Given the description of an element on the screen output the (x, y) to click on. 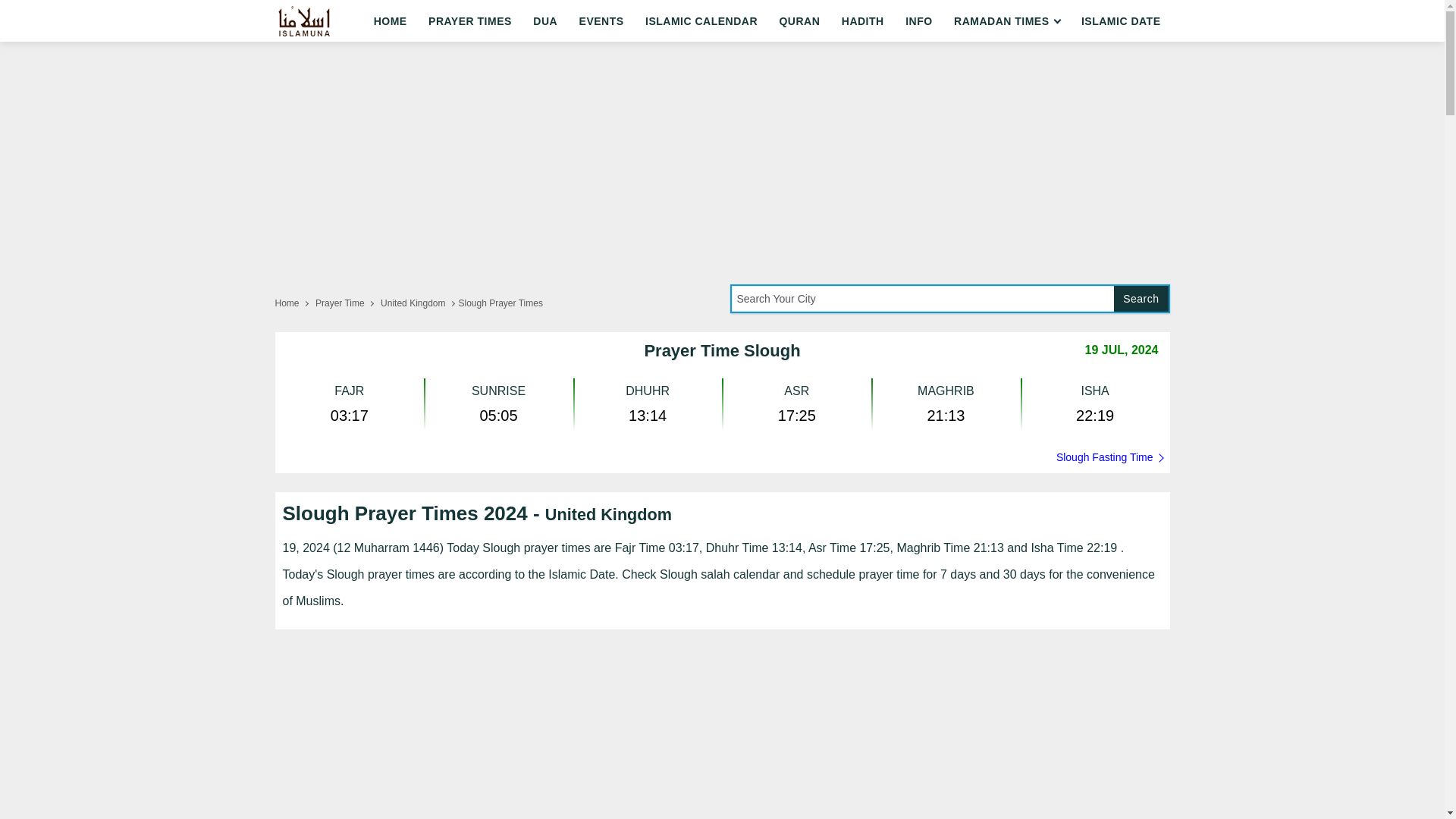
EVENTS (601, 21)
Home (293, 303)
Slough Fasting Time (721, 457)
QURAN (799, 21)
Prayer Time (346, 303)
Search (1140, 298)
Islamuna (302, 20)
PRAYER TIMES (470, 21)
United Kingdom (419, 303)
DUA (545, 21)
RAMADAN TIMES (1006, 21)
HOME (390, 21)
HADITH (862, 21)
